Given the description of an element on the screen output the (x, y) to click on. 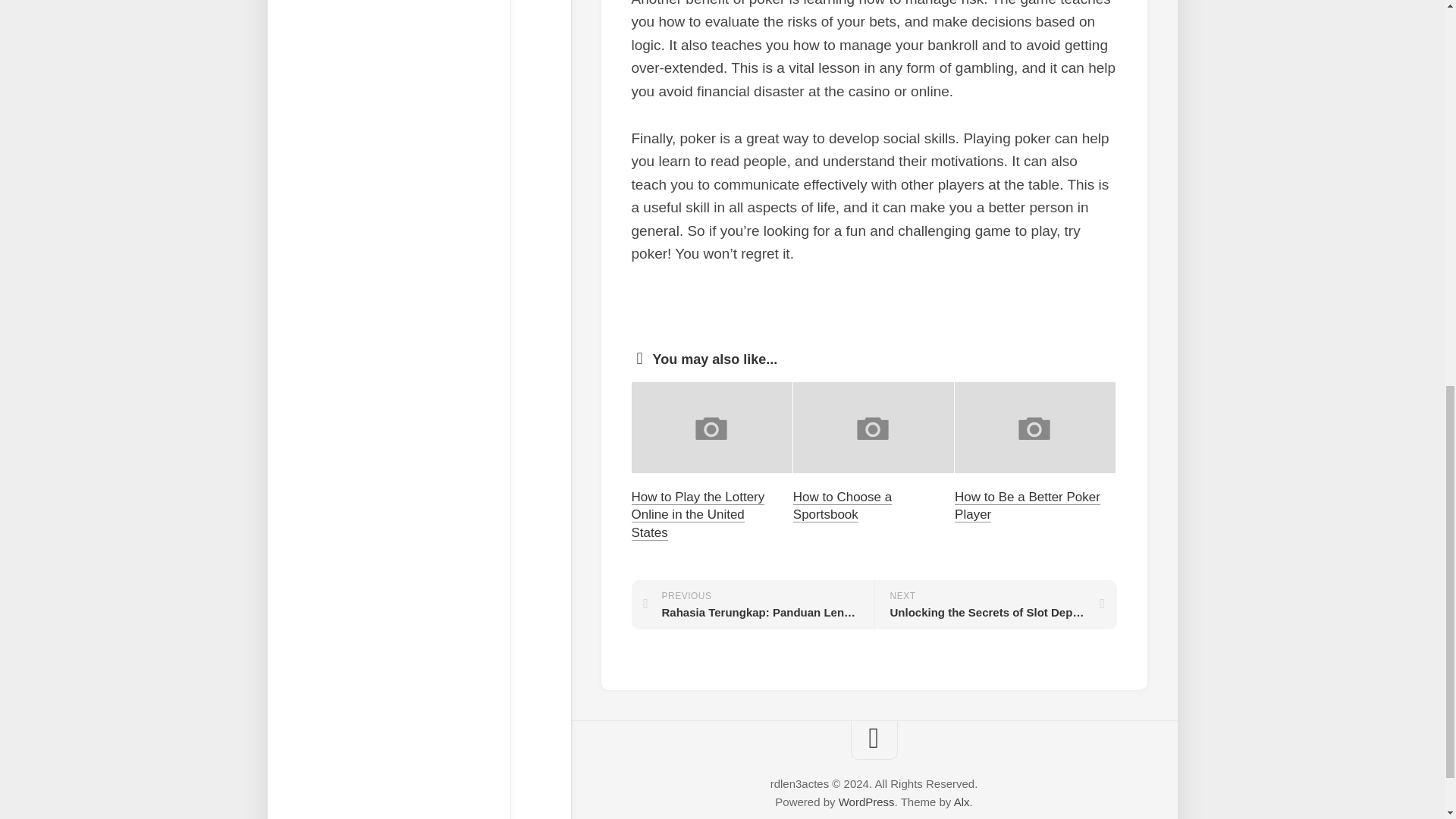
Alx (961, 801)
How to Choose a Sportsbook (842, 504)
WordPress (866, 801)
How to Be a Better Poker Player (1027, 504)
How to Play the Lottery Online in the United States (697, 513)
